Given the description of an element on the screen output the (x, y) to click on. 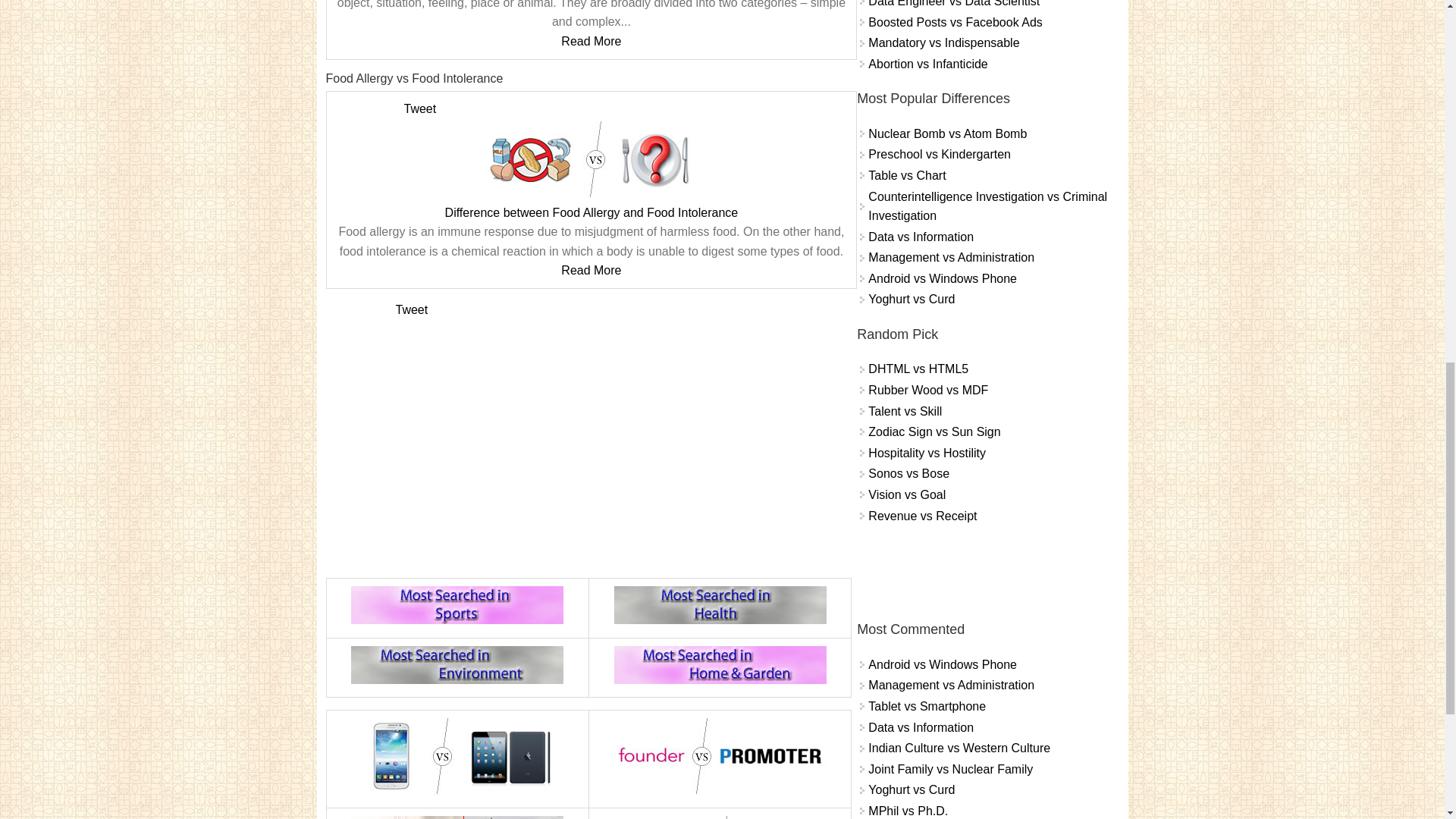
Most Searched in Health (720, 605)
Samsung Galaxy Mega 5.8 vs iPad Mini (456, 755)
Difference between Food Allergy and Food Intolerance (591, 212)
Food Allergy vs Food Intolerance (590, 159)
Read More (590, 269)
SSN vs SSBN (456, 817)
Most Searched in Home and Garden (720, 664)
Tweet (412, 309)
Most Searched in Environment (456, 664)
Tweet (419, 108)
Most Searched in Sports (456, 605)
Founder vs Promoter (720, 755)
Intel i3 vs i5 (720, 817)
Read More (590, 41)
